Given the description of an element on the screen output the (x, y) to click on. 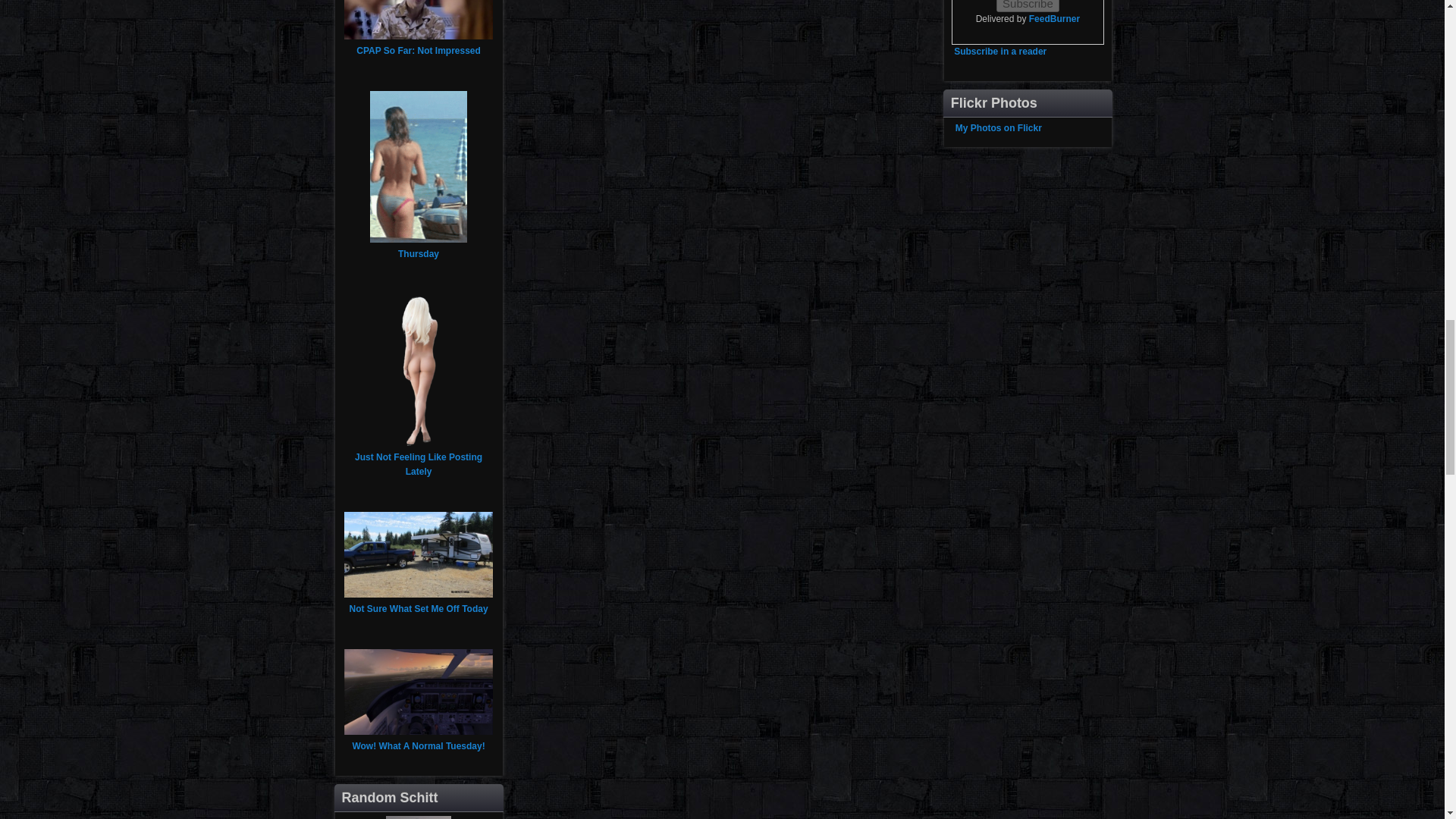
Subscribe (1027, 6)
